Given the description of an element on the screen output the (x, y) to click on. 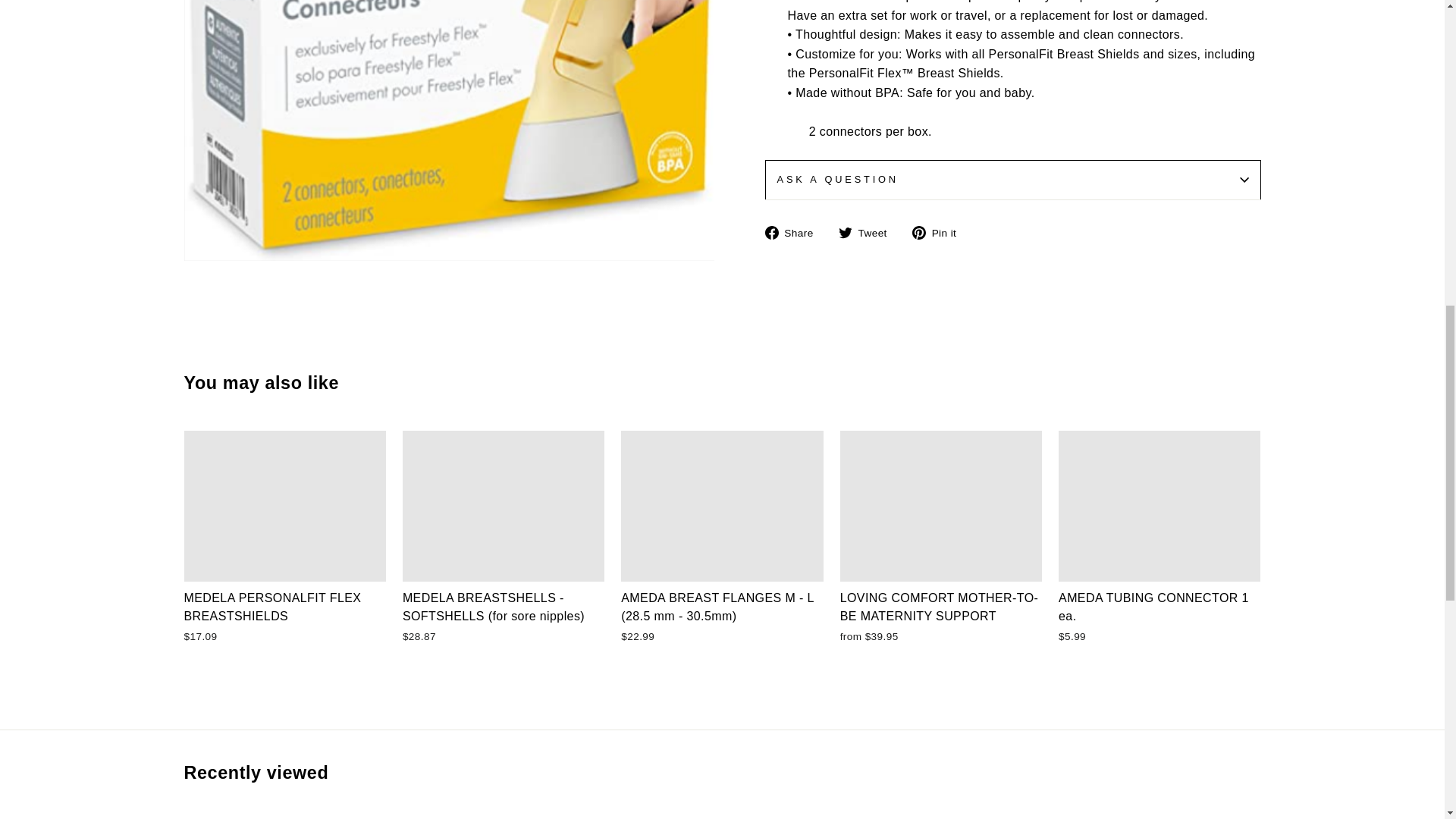
Pin on Pinterest (940, 232)
twitter (844, 232)
Share on Facebook (794, 232)
Tweet on Twitter (868, 232)
